Given the description of an element on the screen output the (x, y) to click on. 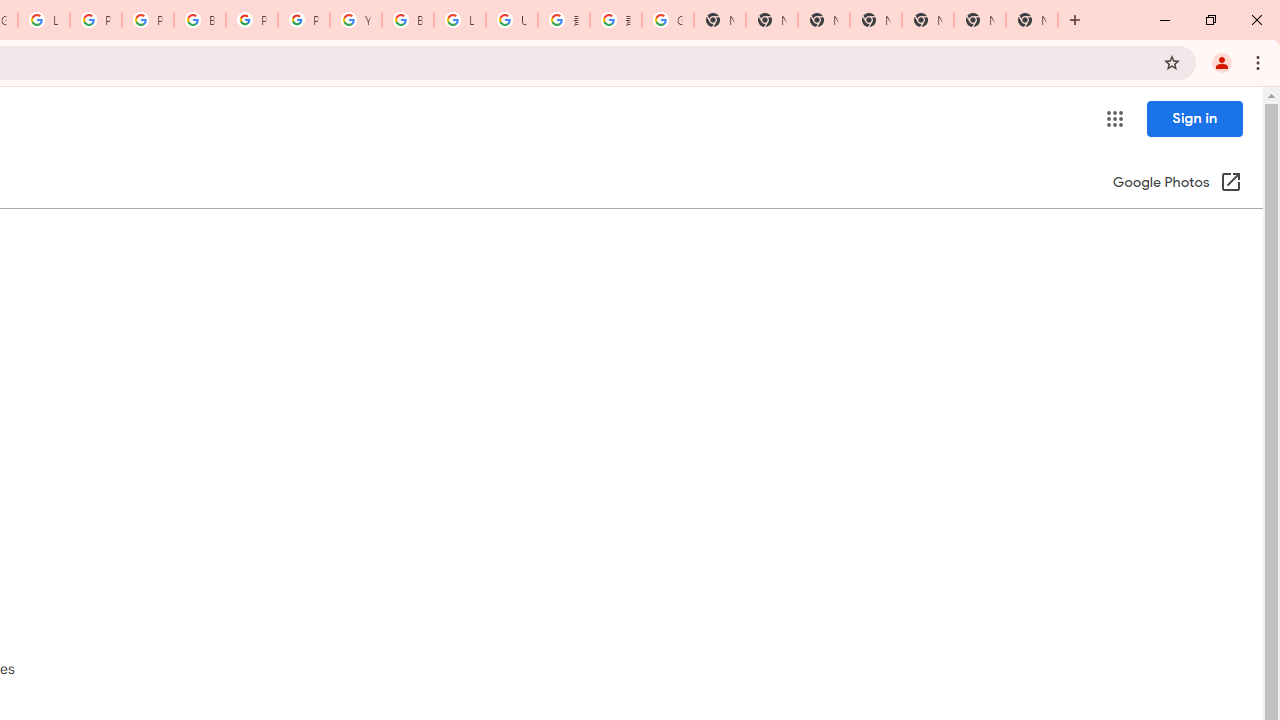
Privacy Help Center - Policies Help (147, 20)
Google Images (667, 20)
Google Photos (Open in a new window) (1177, 183)
YouTube (355, 20)
